Given the description of an element on the screen output the (x, y) to click on. 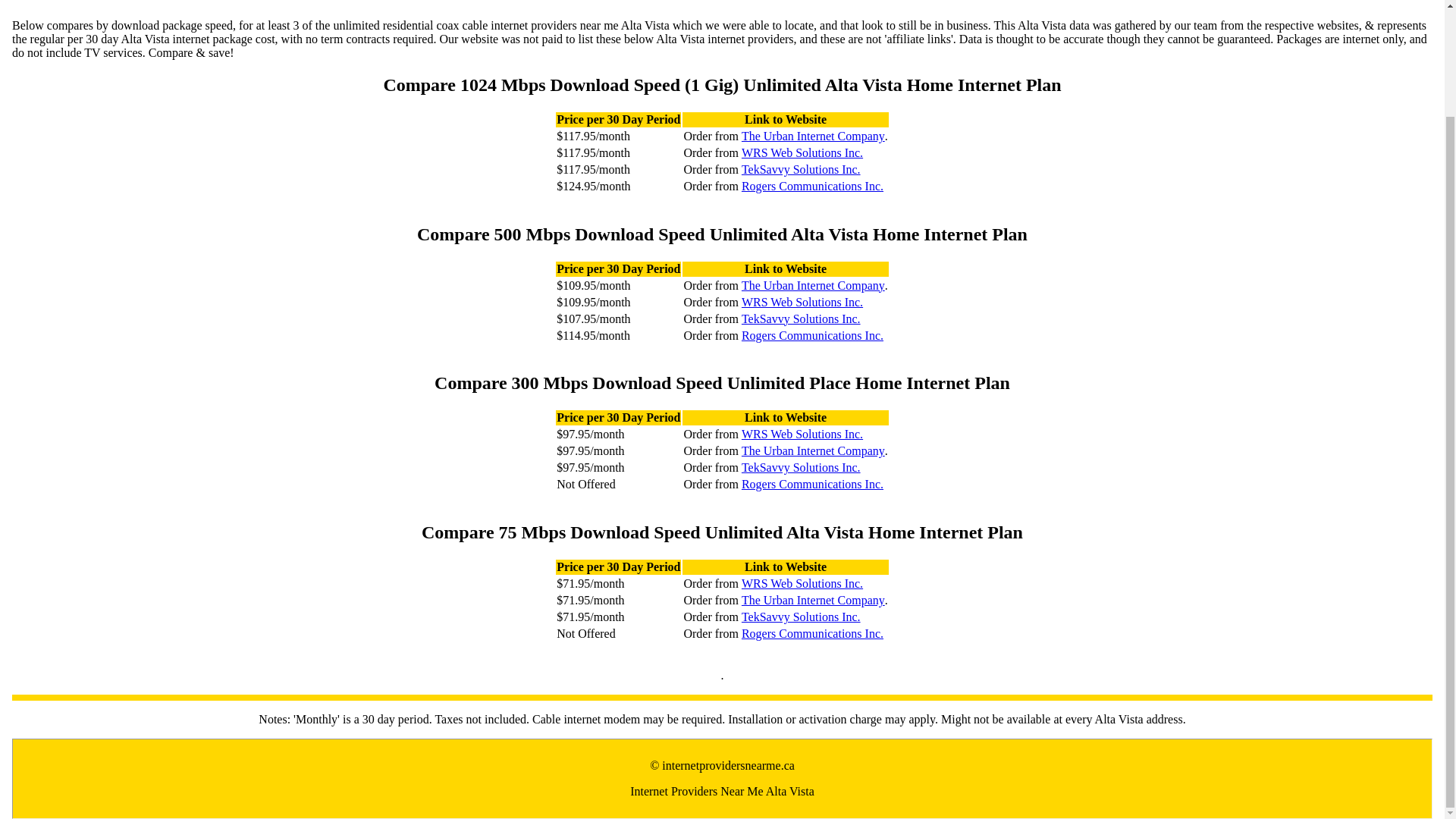
The Urban Internet Company (813, 136)
TekSavvy Solutions Inc. (800, 468)
WRS Web Solutions Inc. (802, 434)
Rogers Communications Inc. (812, 186)
The Urban Internet Company (813, 600)
WRS Web Solutions Inc. (802, 301)
The Urban Internet Company (813, 450)
WRS Web Solutions Inc. (802, 152)
Rogers Communications Inc. (812, 633)
TekSavvy Solutions Inc. (800, 169)
